Given the description of an element on the screen output the (x, y) to click on. 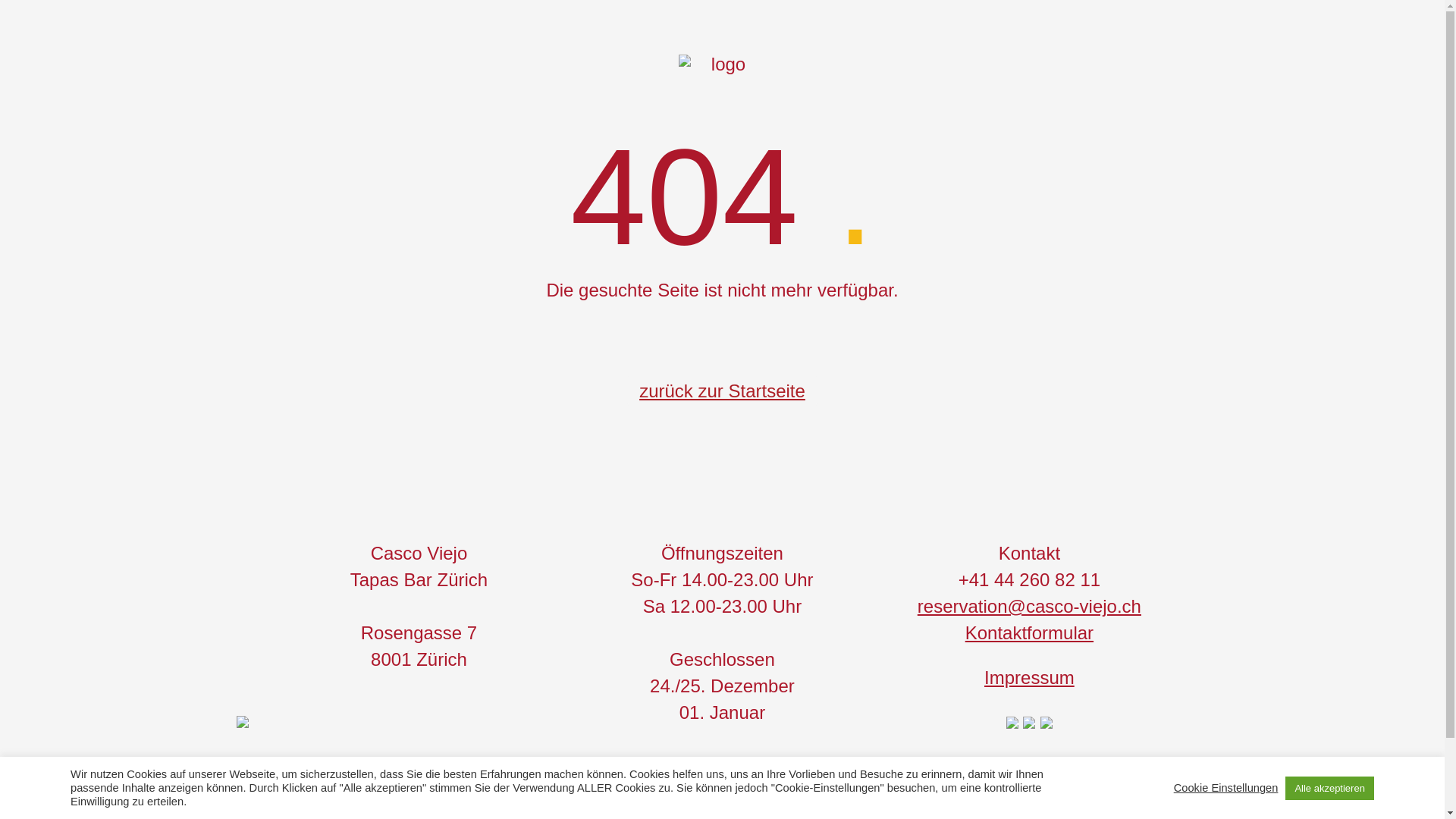
Cookie Einstellungen Element type: text (1225, 787)
reservation@casco-viejo.ch Element type: text (1029, 606)
Kontaktformular Element type: text (1029, 632)
Impressum Element type: text (1029, 677)
Alle akzeptieren Element type: text (1329, 788)
